Given the description of an element on the screen output the (x, y) to click on. 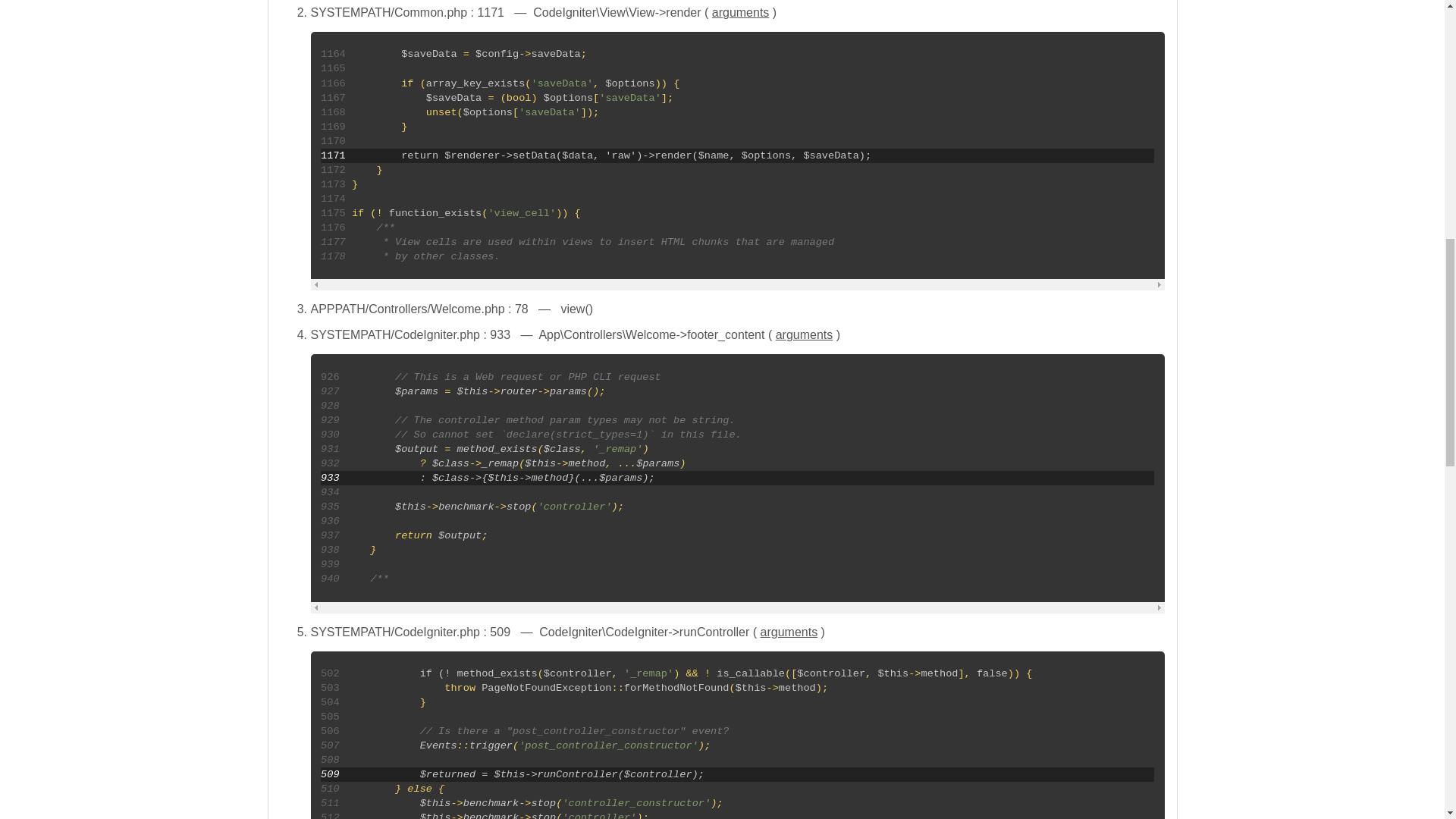
arguments (740, 11)
arguments (789, 631)
arguments (804, 334)
